Given the description of an element on the screen output the (x, y) to click on. 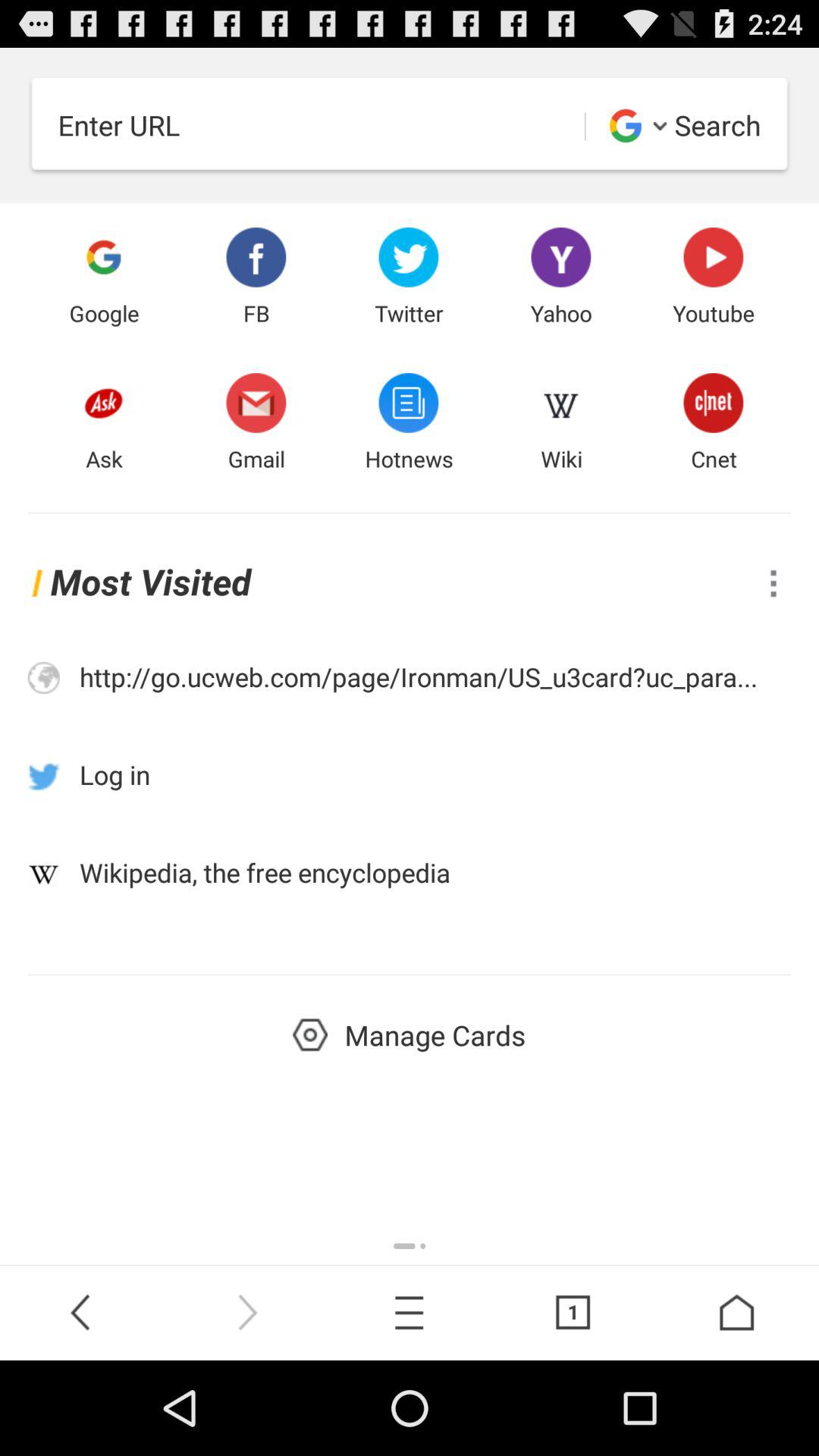
options to view other actions (773, 583)
